Given the description of an element on the screen output the (x, y) to click on. 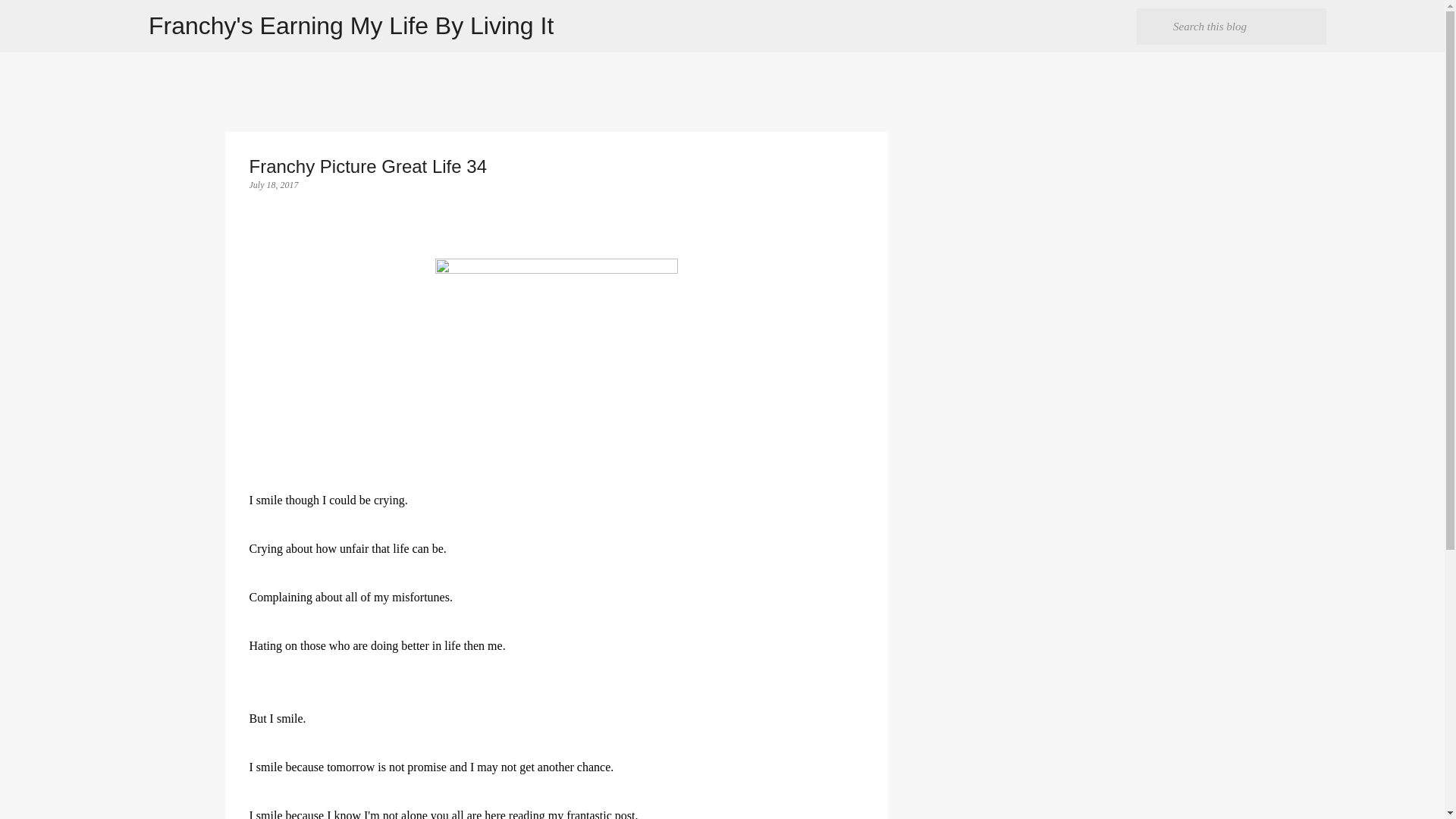
July 18, 2017 (273, 184)
Franchy's Earning My Life By Living It (350, 25)
permanent link (273, 184)
